Given the description of an element on the screen output the (x, y) to click on. 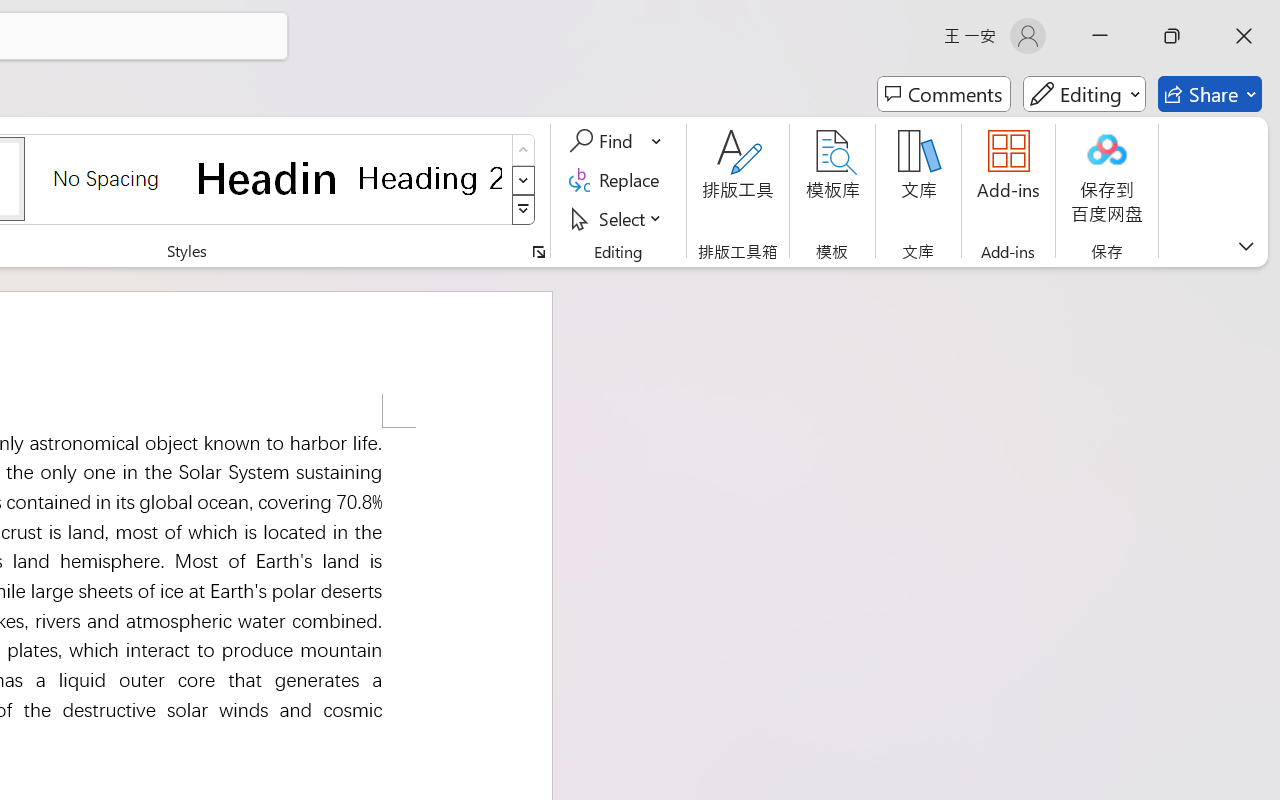
Row up (523, 150)
Styles... (538, 252)
Row Down (523, 180)
Replace... (617, 179)
